Given the description of an element on the screen output the (x, y) to click on. 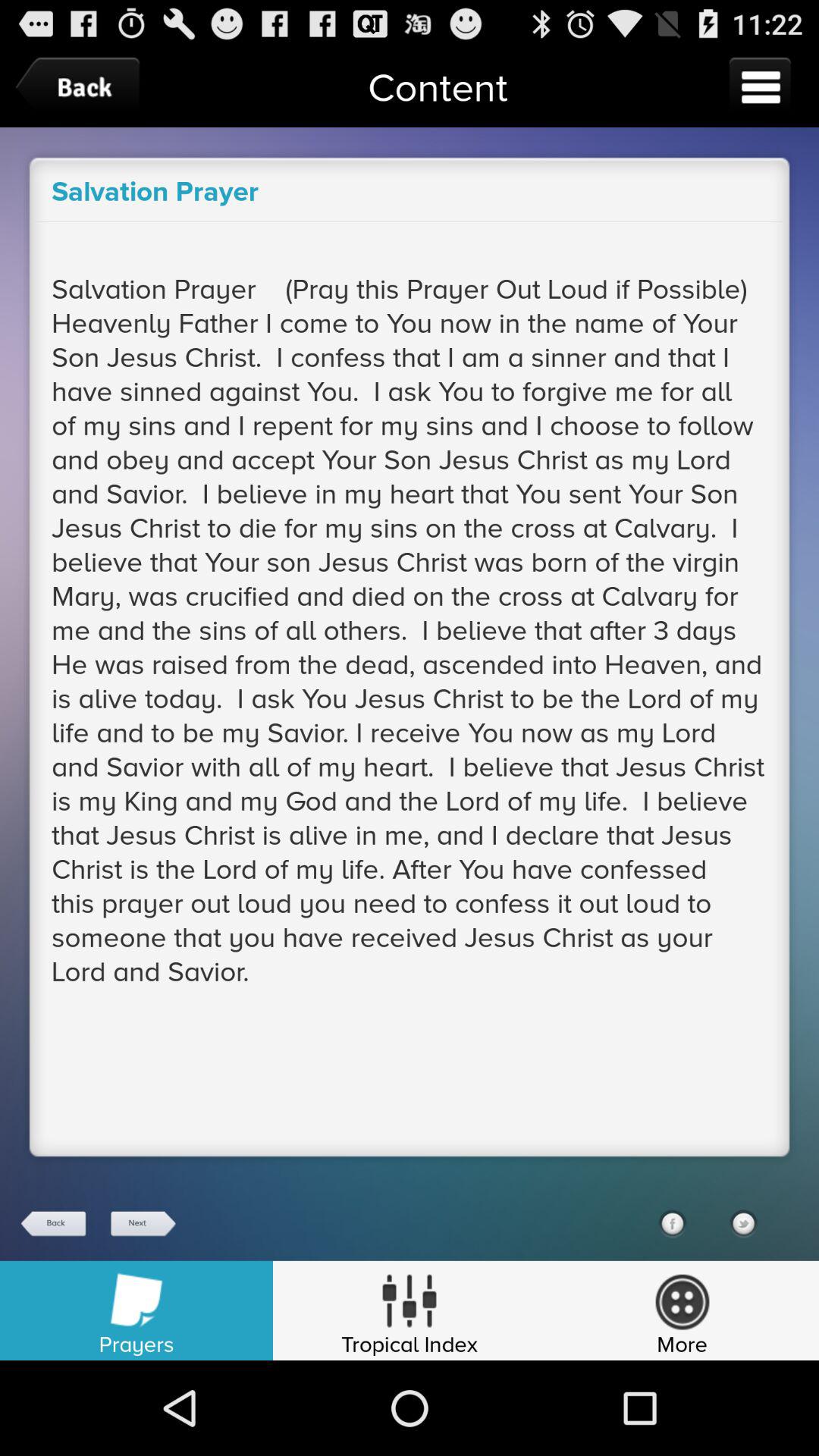
tap item below the salvation prayer pray app (672, 1223)
